Given the description of an element on the screen output the (x, y) to click on. 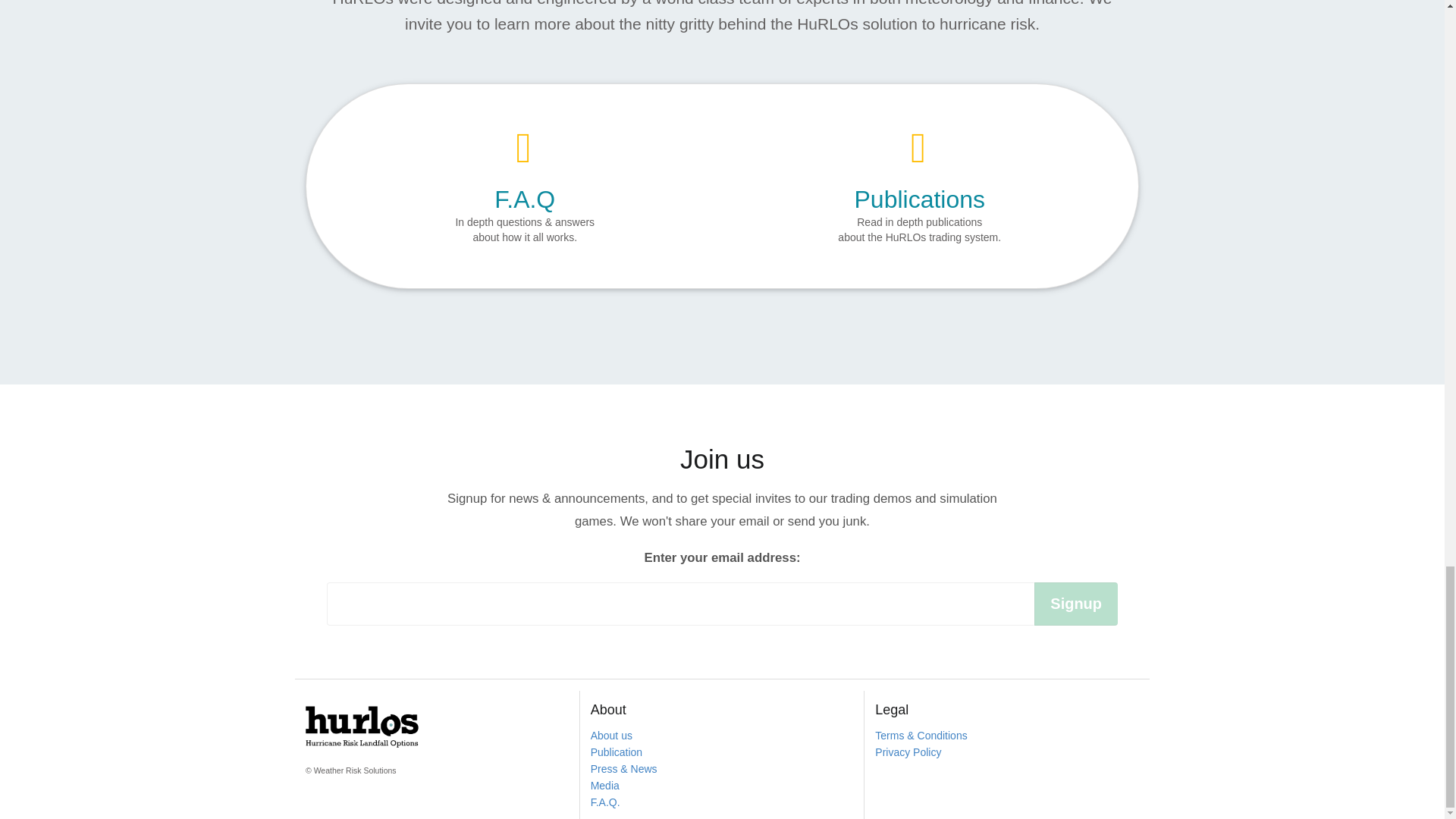
Publication (617, 752)
F.A.Q (524, 198)
Publications (919, 198)
Media (605, 785)
About us (611, 735)
Privacy Policy (907, 752)
Signup (1075, 604)
Signup (1075, 604)
F.A.Q. (605, 802)
